Given the description of an element on the screen output the (x, y) to click on. 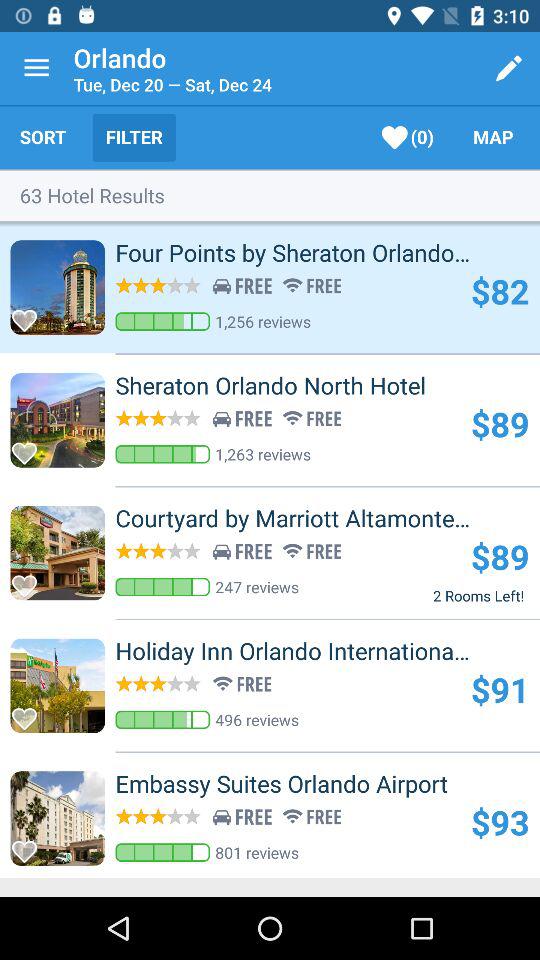
select the icon next to 247 reviews item (478, 595)
